Given the description of an element on the screen output the (x, y) to click on. 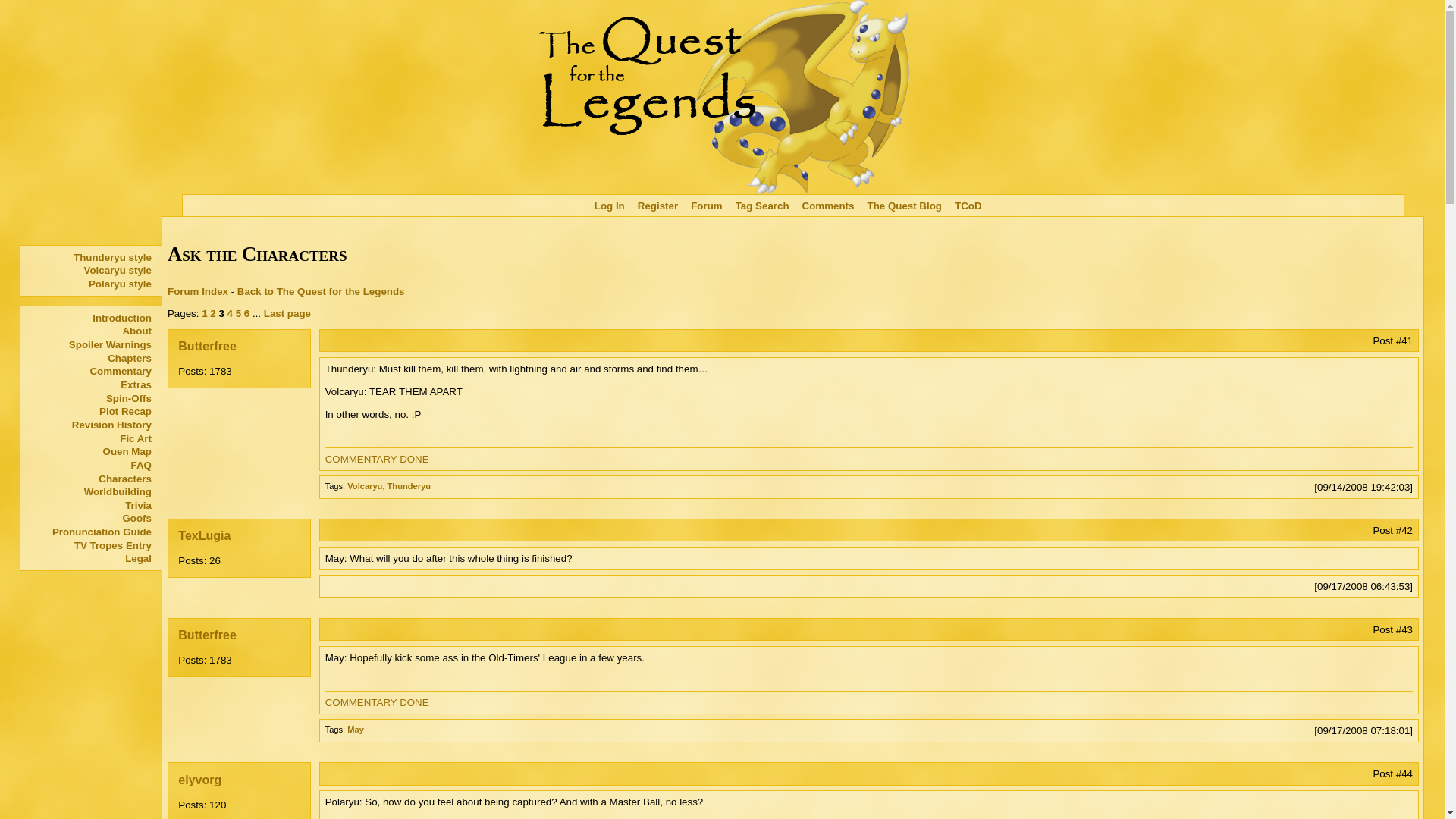
FAQ (89, 465)
Goofs (89, 518)
Fic Art (89, 438)
6 (246, 313)
Spoiler Warnings (89, 345)
Commentary (89, 371)
Spin-Offs (89, 397)
TV Tropes Entry (89, 545)
Back to The Quest for the Legends (320, 291)
TCoD (968, 205)
1 (204, 313)
Pronunciation Guide (89, 531)
Forum Index (197, 291)
Trivia (89, 505)
Polaryu style (89, 284)
